Given the description of an element on the screen output the (x, y) to click on. 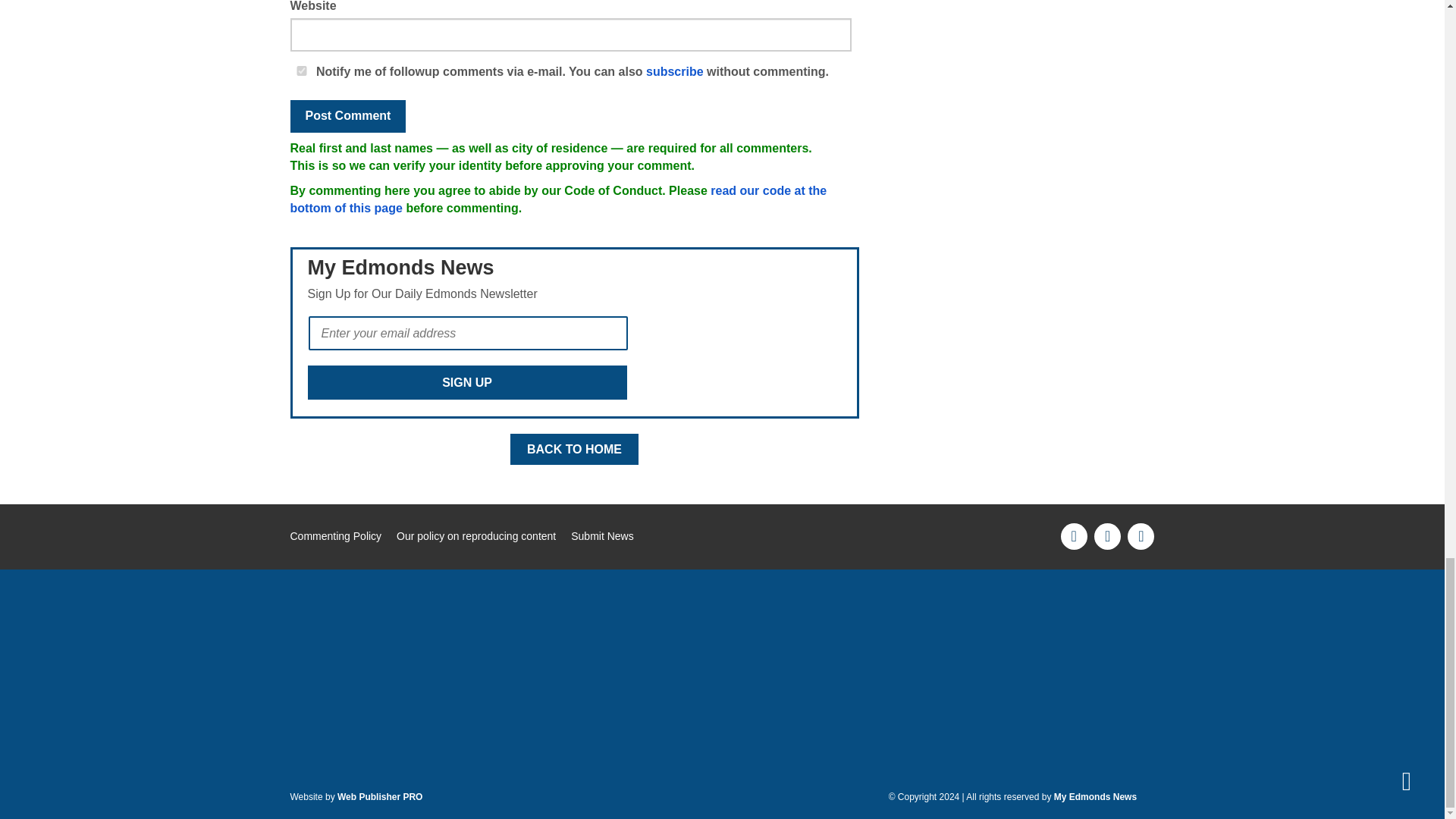
yes (301, 71)
Sign Up (467, 382)
Post Comment (347, 115)
